Given the description of an element on the screen output the (x, y) to click on. 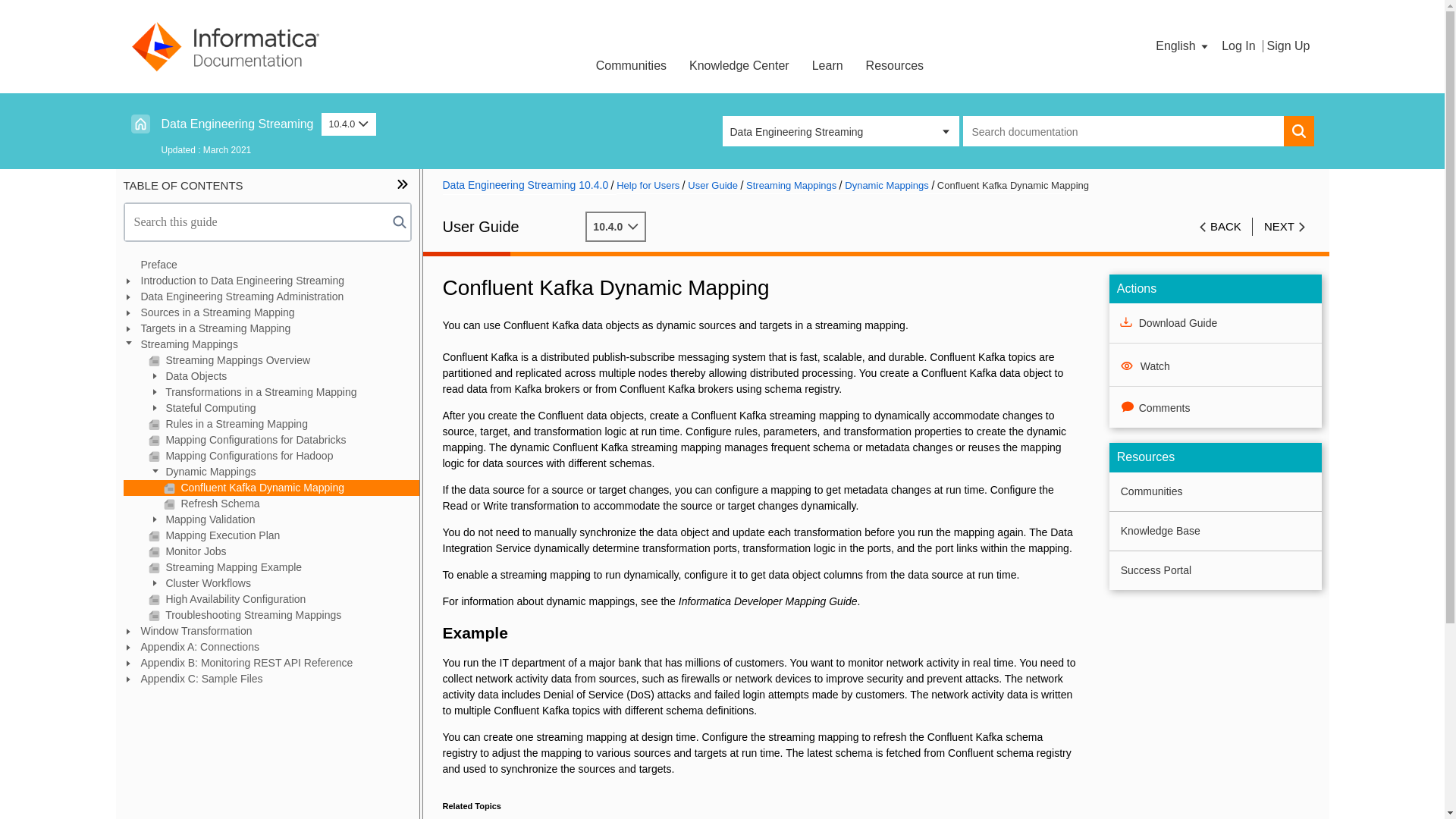
Insert a query. Press enter to send (1123, 131)
Communities (631, 64)
Choose a product version page. (348, 124)
Open the latest product version page. (236, 123)
Data Engineering Streaming Administration (270, 296)
Learn (827, 64)
Informatica Documentation Portal (225, 46)
Data Engineering Streaming (236, 123)
10.4.0 (348, 124)
Resources (894, 64)
Introduction to Data Engineering Streaming (270, 280)
Sign Up (1288, 45)
Home (140, 123)
Preface (270, 264)
